Given the description of an element on the screen output the (x, y) to click on. 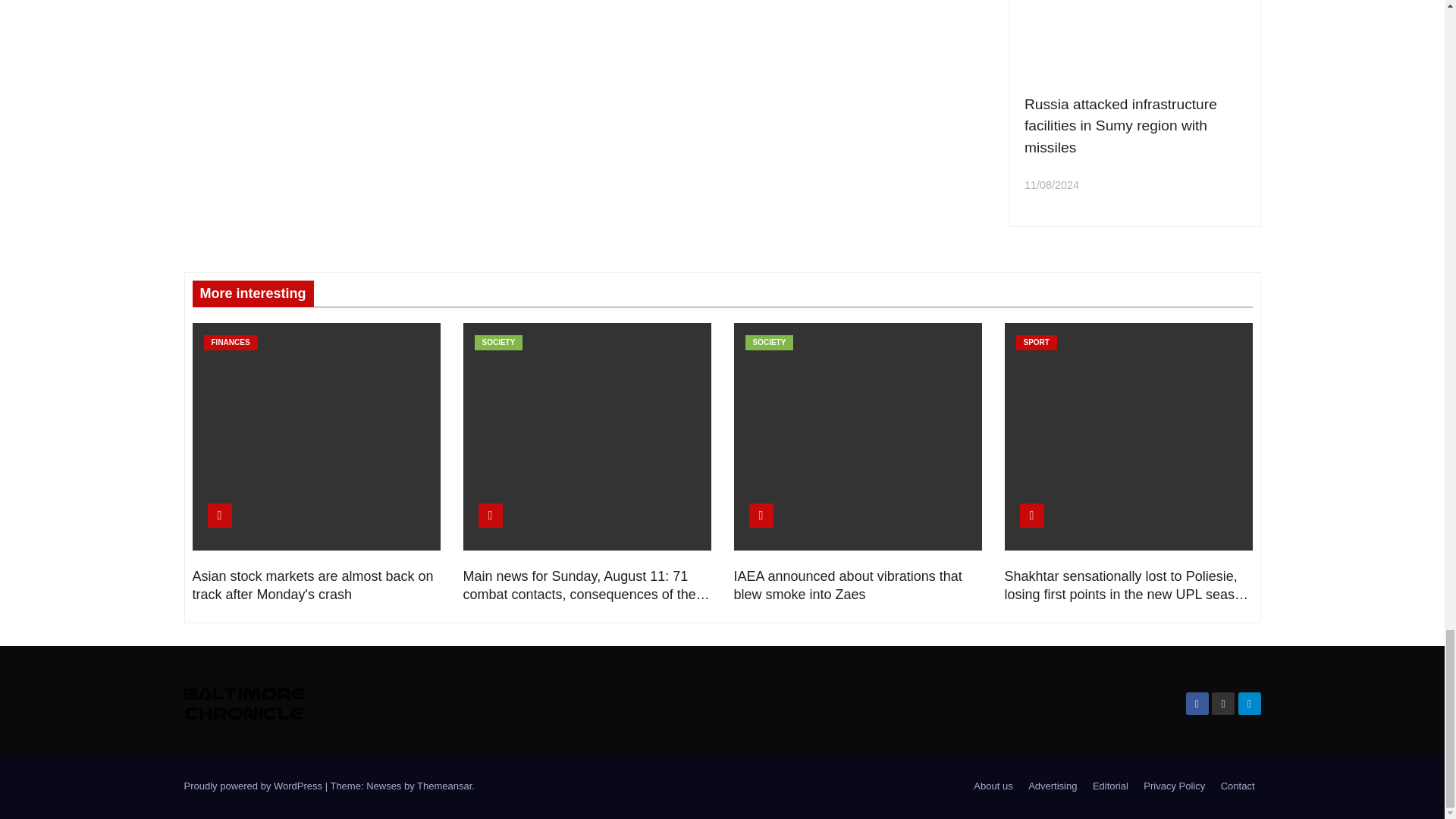
Advertising (1052, 786)
About us (992, 786)
